Given the description of an element on the screen output the (x, y) to click on. 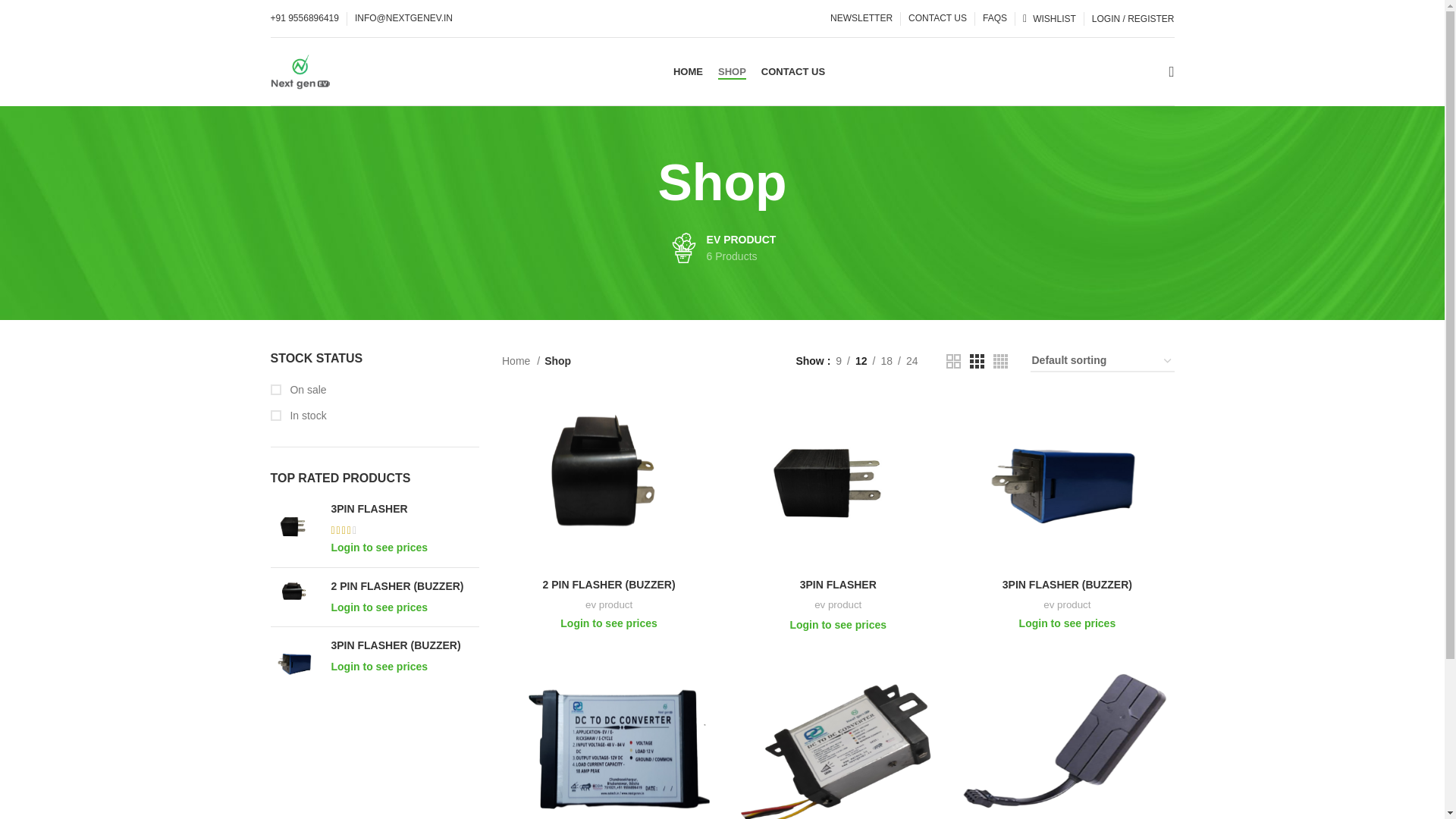
3PIN FLASHER (404, 509)
My Wishlist (1048, 18)
WISHLIST (1048, 18)
Login to see prices (379, 607)
3PIN FLASHER (293, 529)
NEWSLETTER (860, 18)
SHOP (732, 71)
Home (722, 248)
9 (521, 360)
cat-flower (838, 360)
12 (683, 247)
CONTACT US (861, 360)
In stock (937, 18)
3PIN FLASHER (374, 416)
